Given the description of an element on the screen output the (x, y) to click on. 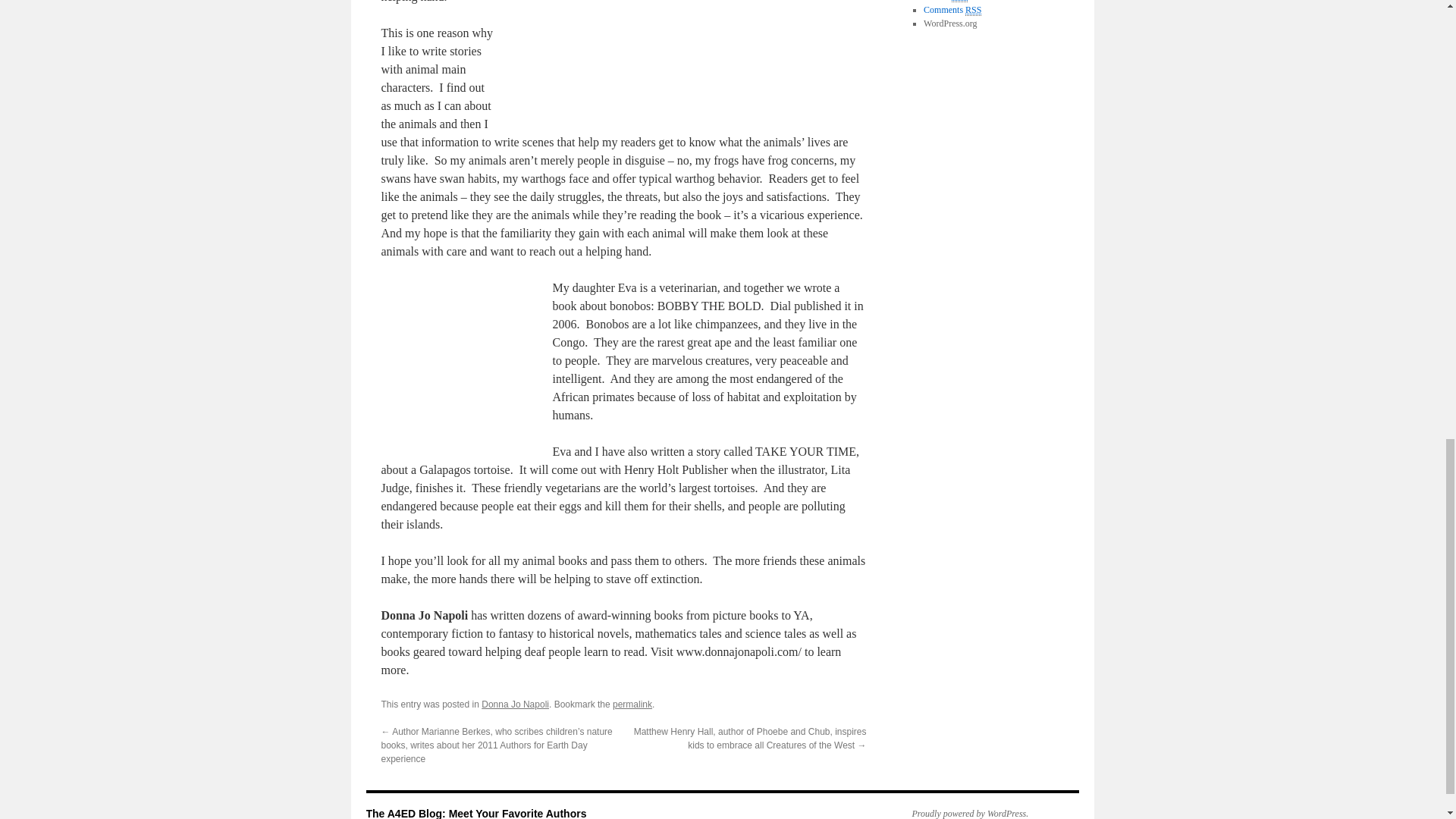
bobby bold (457, 357)
Donna Jo Napoli (514, 704)
books (688, 54)
View all posts in Donna Jo Napoli (514, 704)
permalink (632, 704)
